Given the description of an element on the screen output the (x, y) to click on. 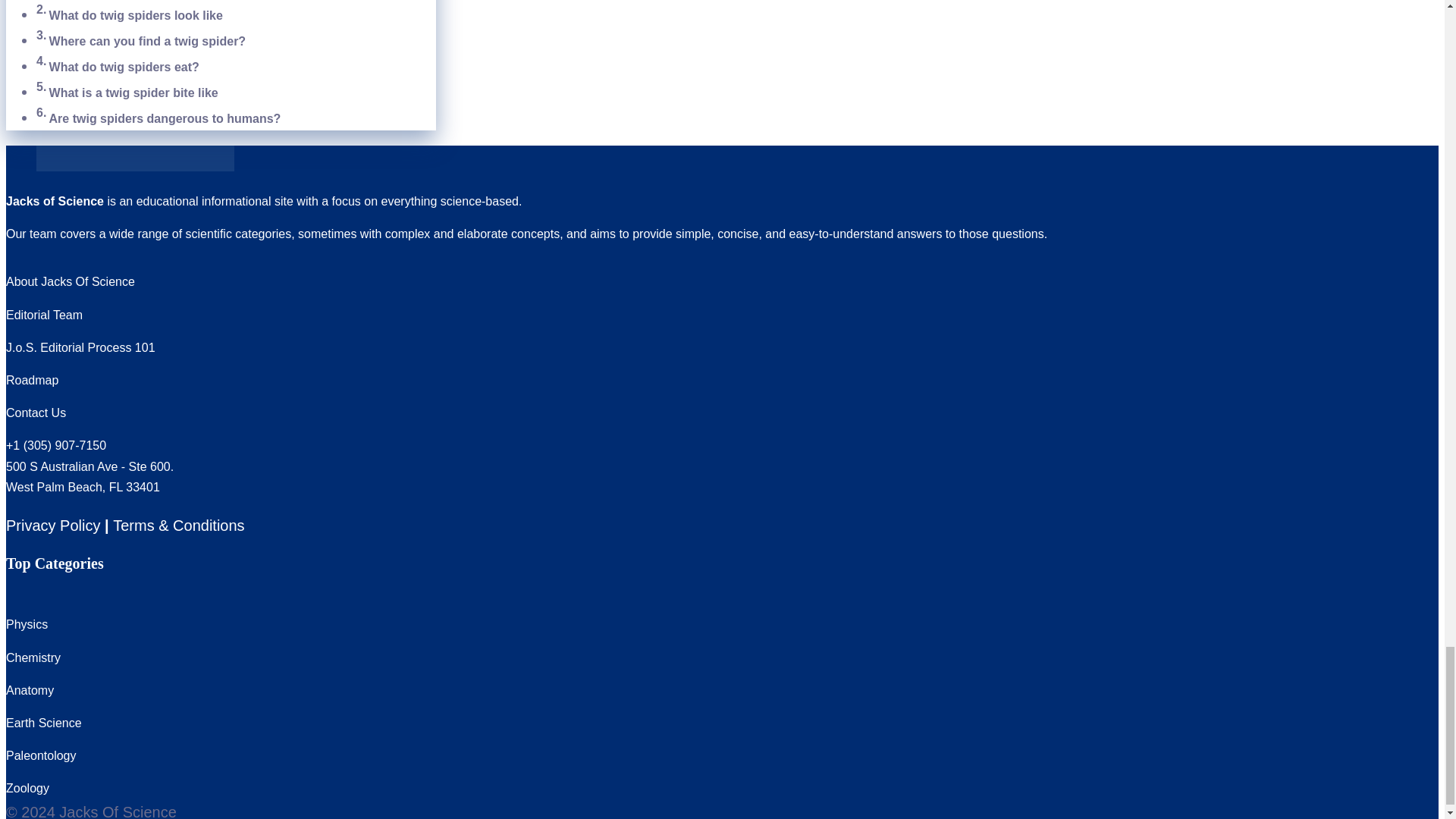
Editorial Team (43, 314)
What do twig spiders look like  (138, 15)
Are twig spiders dangerous to humans? (165, 118)
Roadmap (31, 379)
What do twig spiders eat? (124, 66)
About Jacks Of Science (70, 281)
Where can you find a twig spider? (147, 41)
Where can you find a twig spider? (147, 41)
What is a twig spider bite like  (135, 92)
Contact Us (35, 412)
J.o.S. Editorial Process 101 (80, 347)
Are twig spiders dangerous to humans? (165, 118)
What do twig spiders eat? (124, 66)
